Given the description of an element on the screen output the (x, y) to click on. 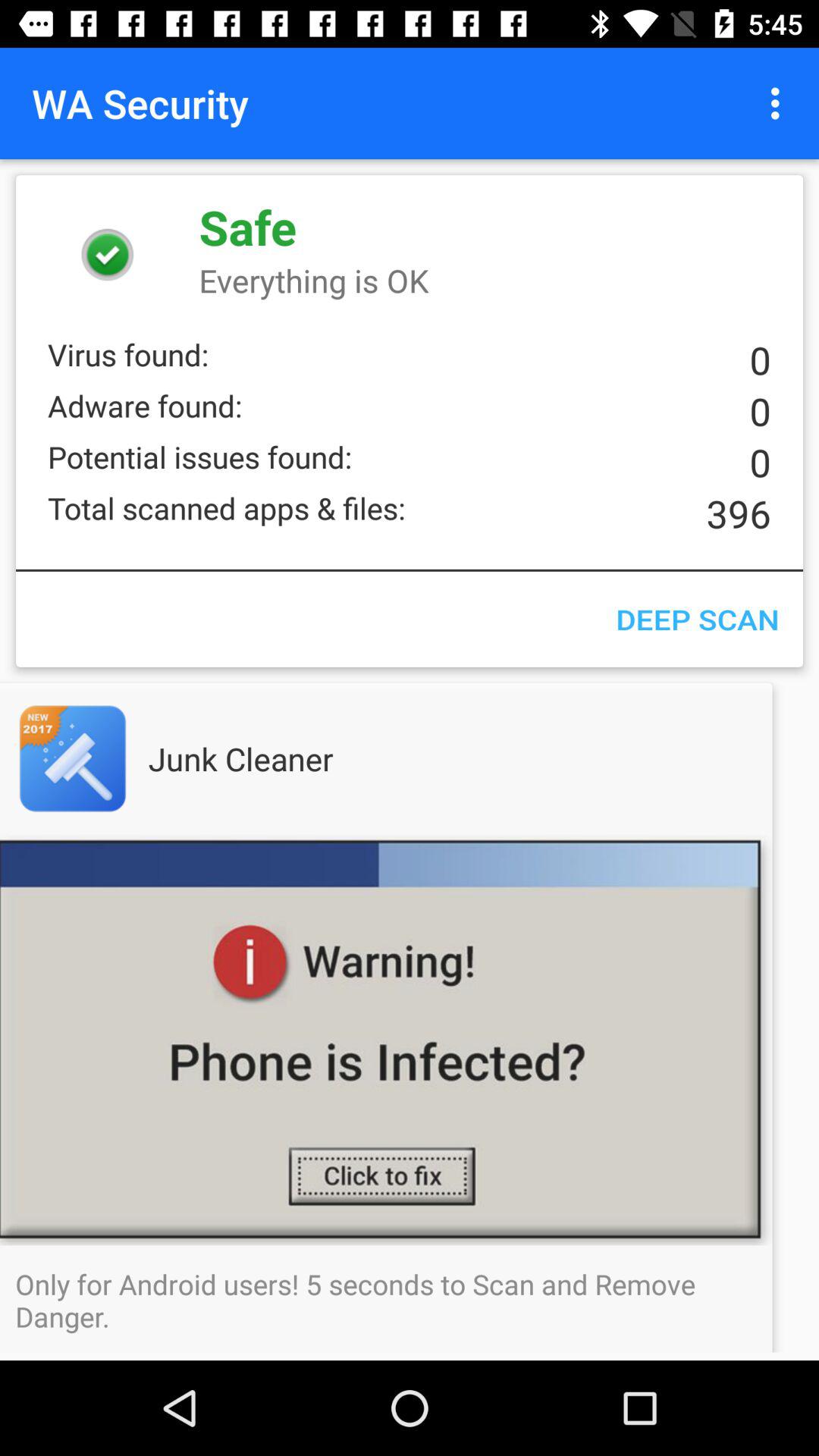
pop up advertisement (409, 1039)
